Given the description of an element on the screen output the (x, y) to click on. 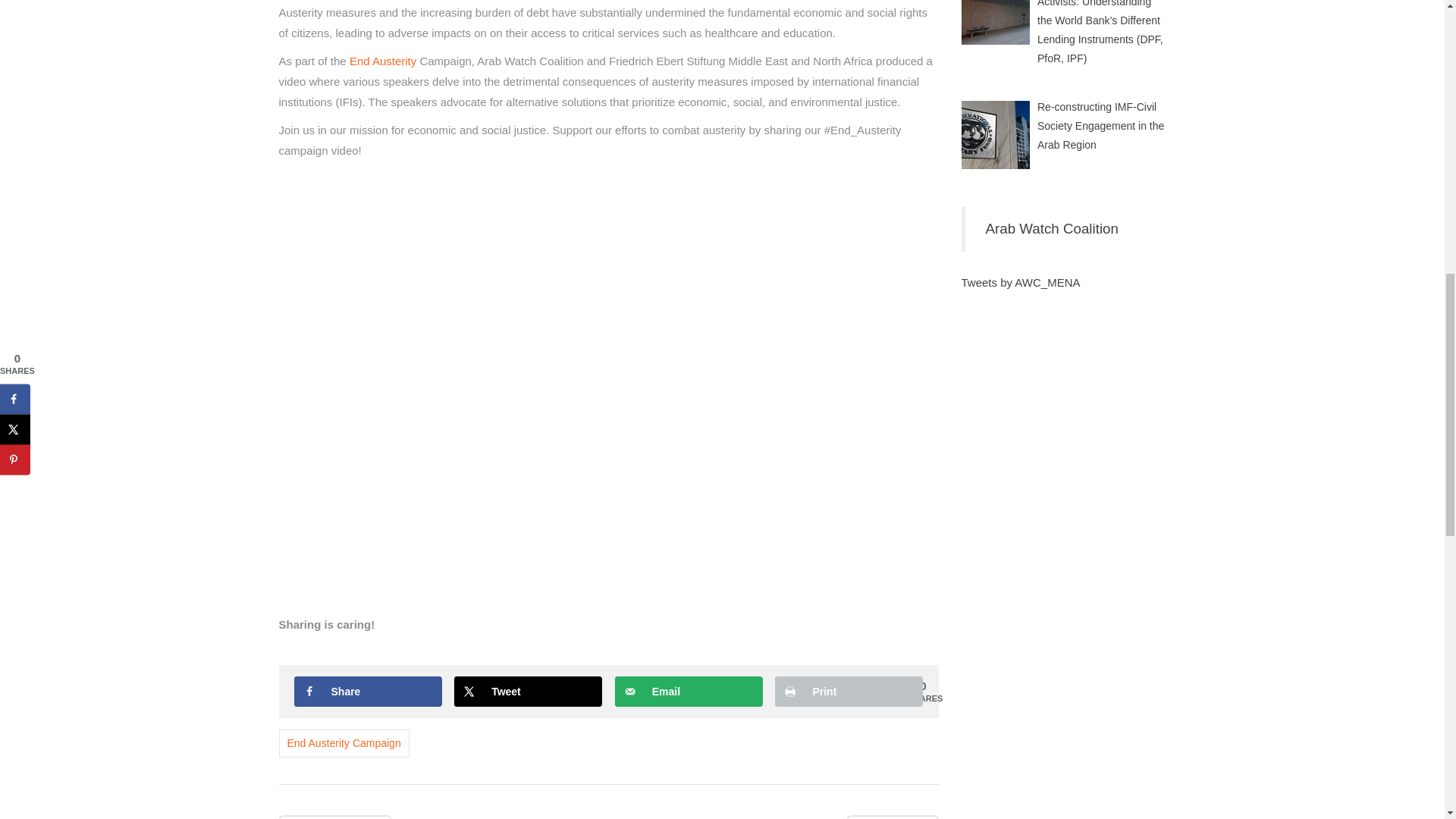
Send over email (688, 691)
Print this webpage (848, 691)
Share on X (528, 691)
Share on Facebook (368, 691)
